Given the description of an element on the screen output the (x, y) to click on. 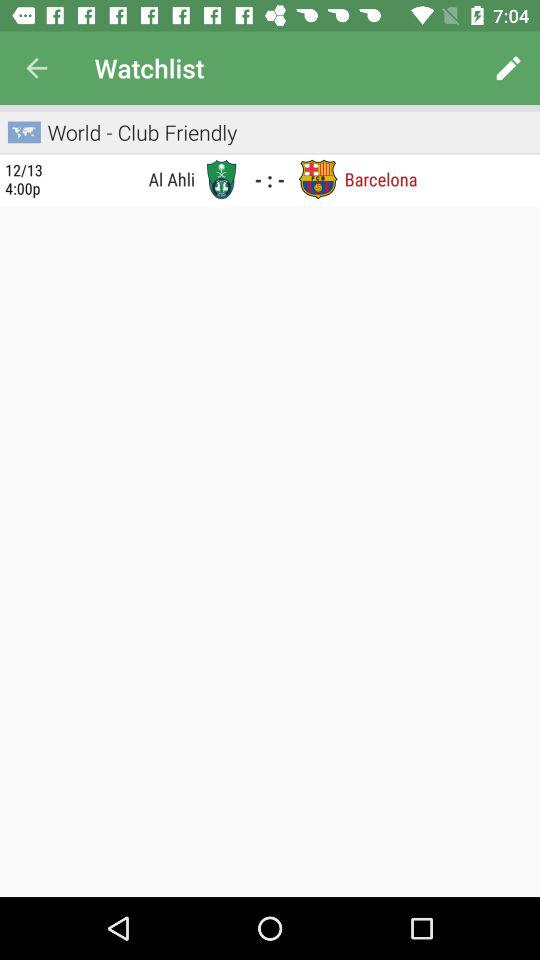
jump to world - club friendly (141, 132)
